Given the description of an element on the screen output the (x, y) to click on. 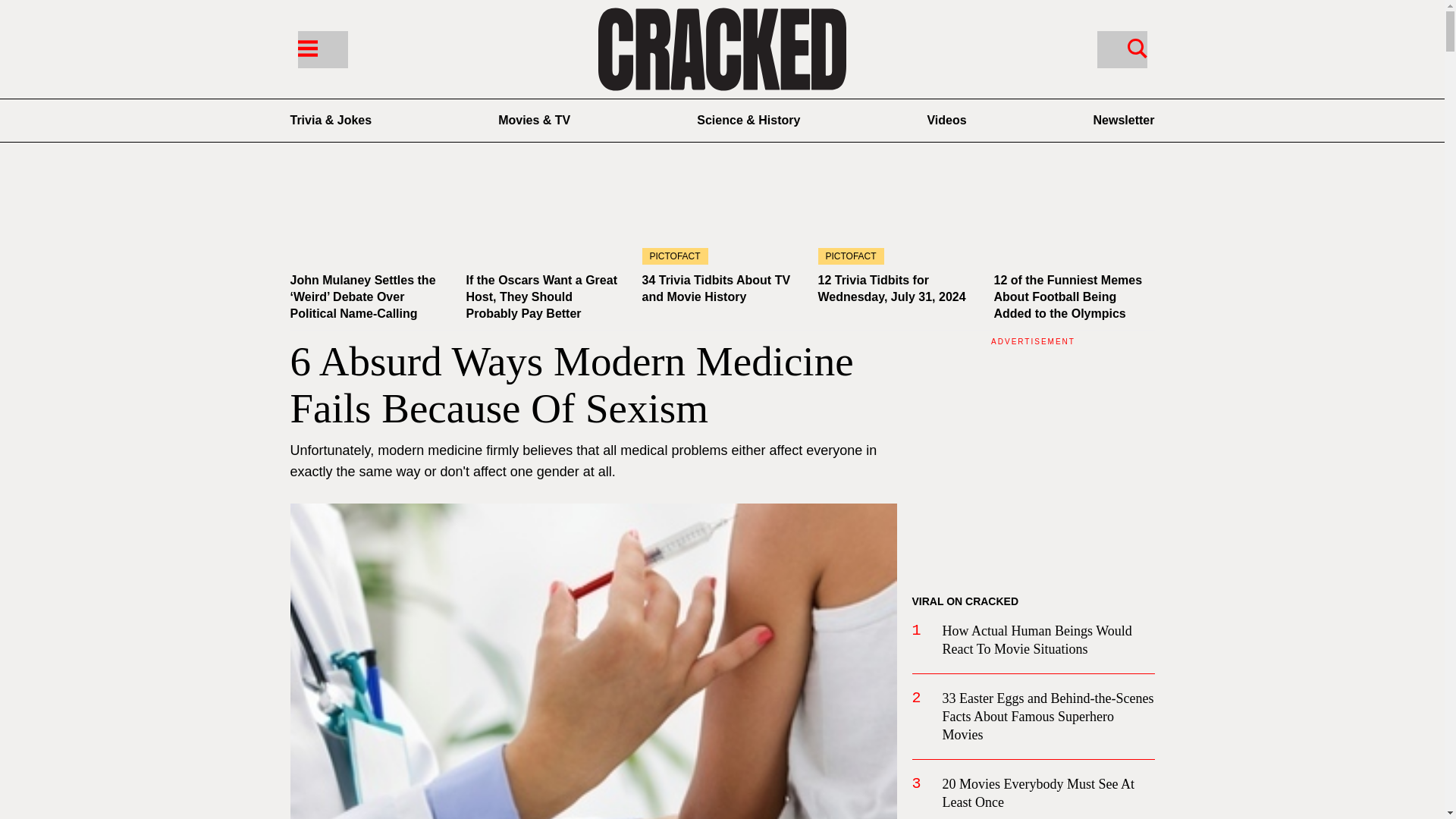
Cracked Newsletter (1123, 119)
Search (1136, 47)
Videos (946, 119)
Menu (307, 47)
Menu (322, 48)
Search (1121, 48)
Videos (946, 119)
Newsletter (1123, 119)
PICTOFACT (722, 219)
PICTOFACT (897, 219)
12 Trivia Tidbits for Wednesday, July 31, 2024 (890, 288)
34 Trivia Tidbits About TV and Movie History (716, 288)
